Given the description of an element on the screen output the (x, y) to click on. 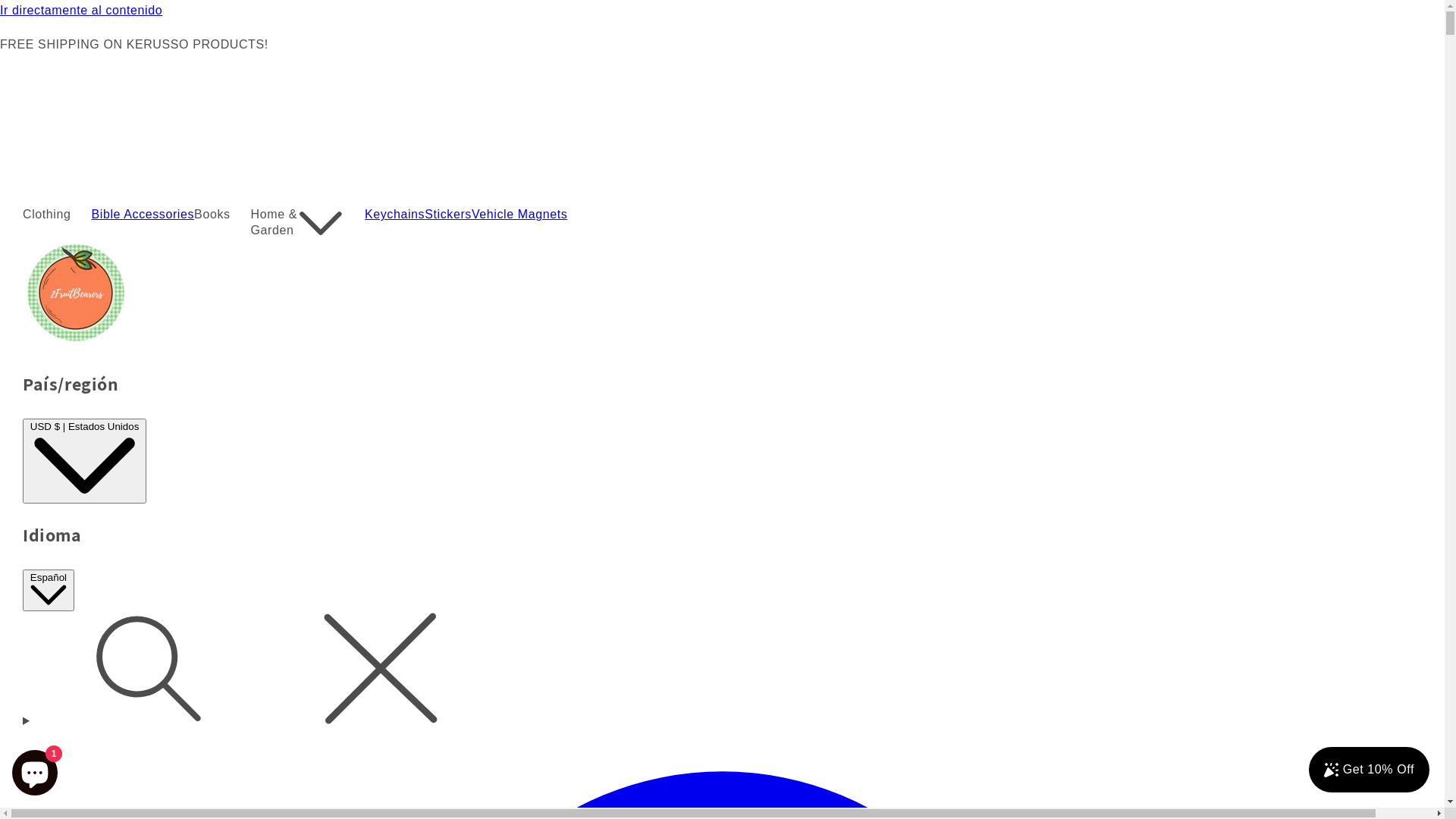
Keychains Element type: text (394, 214)
USD $ | Estados Unidos Element type: text (84, 460)
Bible Accessories Element type: text (142, 214)
Ir directamente al contenido Element type: text (722, 10)
Chat de la tienda online Shopify Element type: hover (34, 769)
Vehicle Magnets Element type: text (519, 214)
Stickers Element type: text (447, 214)
